Given the description of an element on the screen output the (x, y) to click on. 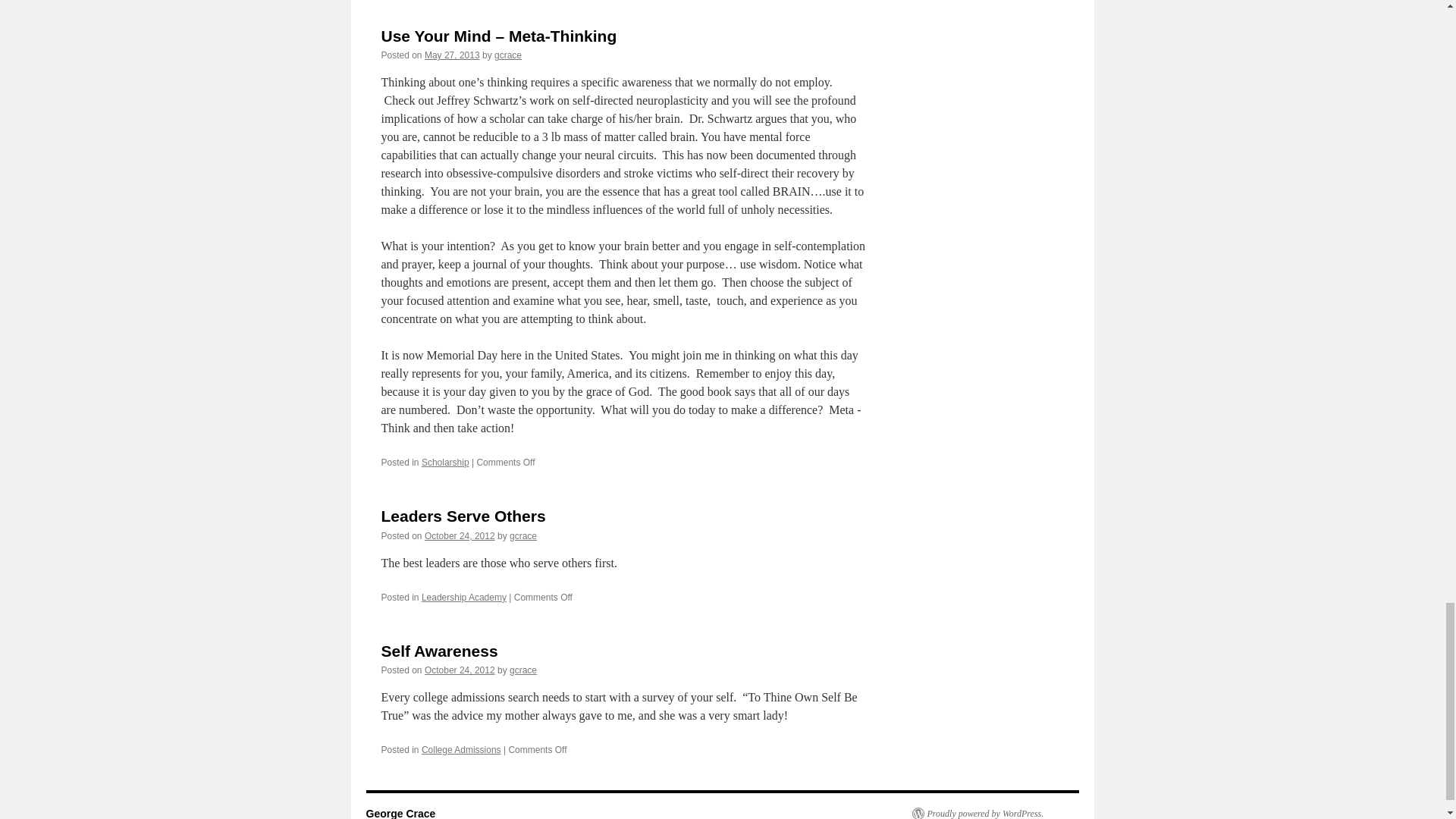
gcrace (523, 535)
12:48 am (452, 54)
October 24, 2012 (460, 535)
View all posts by gcrace (523, 670)
1:59 pm (460, 670)
May 27, 2013 (452, 54)
Scholarship (445, 462)
Leaders Serve Others (462, 515)
gcrace (508, 54)
Self Awareness (438, 651)
October 24, 2012 (460, 670)
View all posts by gcrace (523, 535)
Leadership Academy (464, 597)
College Admissions (461, 749)
View all posts by gcrace (508, 54)
